Given the description of an element on the screen output the (x, y) to click on. 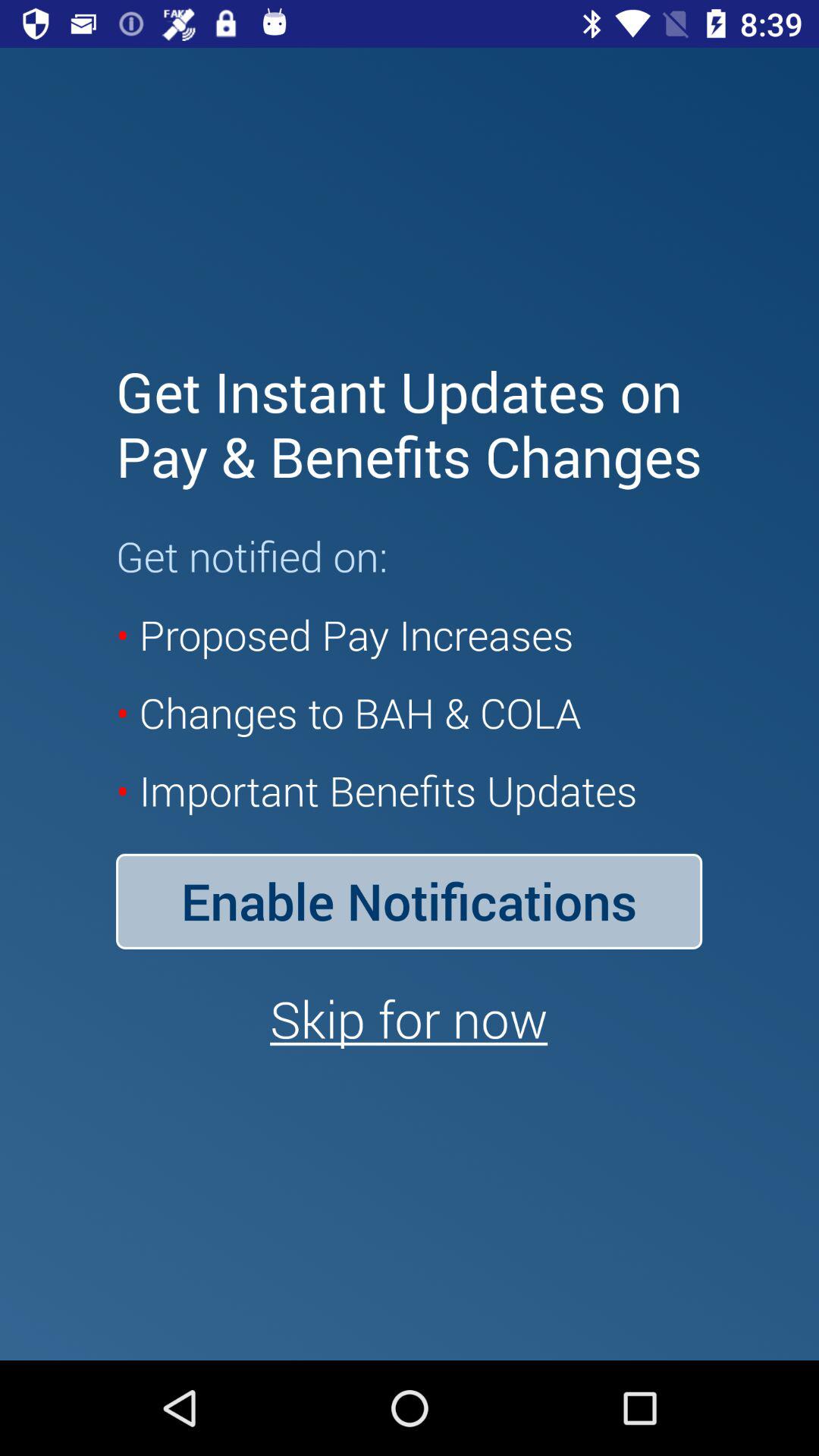
launch item below the proposed pay increases icon (409, 901)
